Given the description of an element on the screen output the (x, y) to click on. 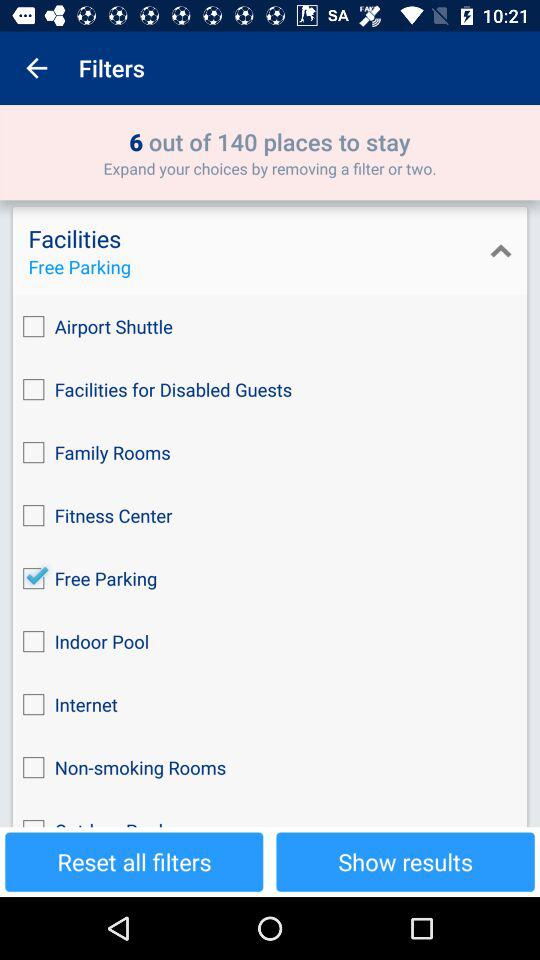
launch item above the 6 out of (36, 68)
